Given the description of an element on the screen output the (x, y) to click on. 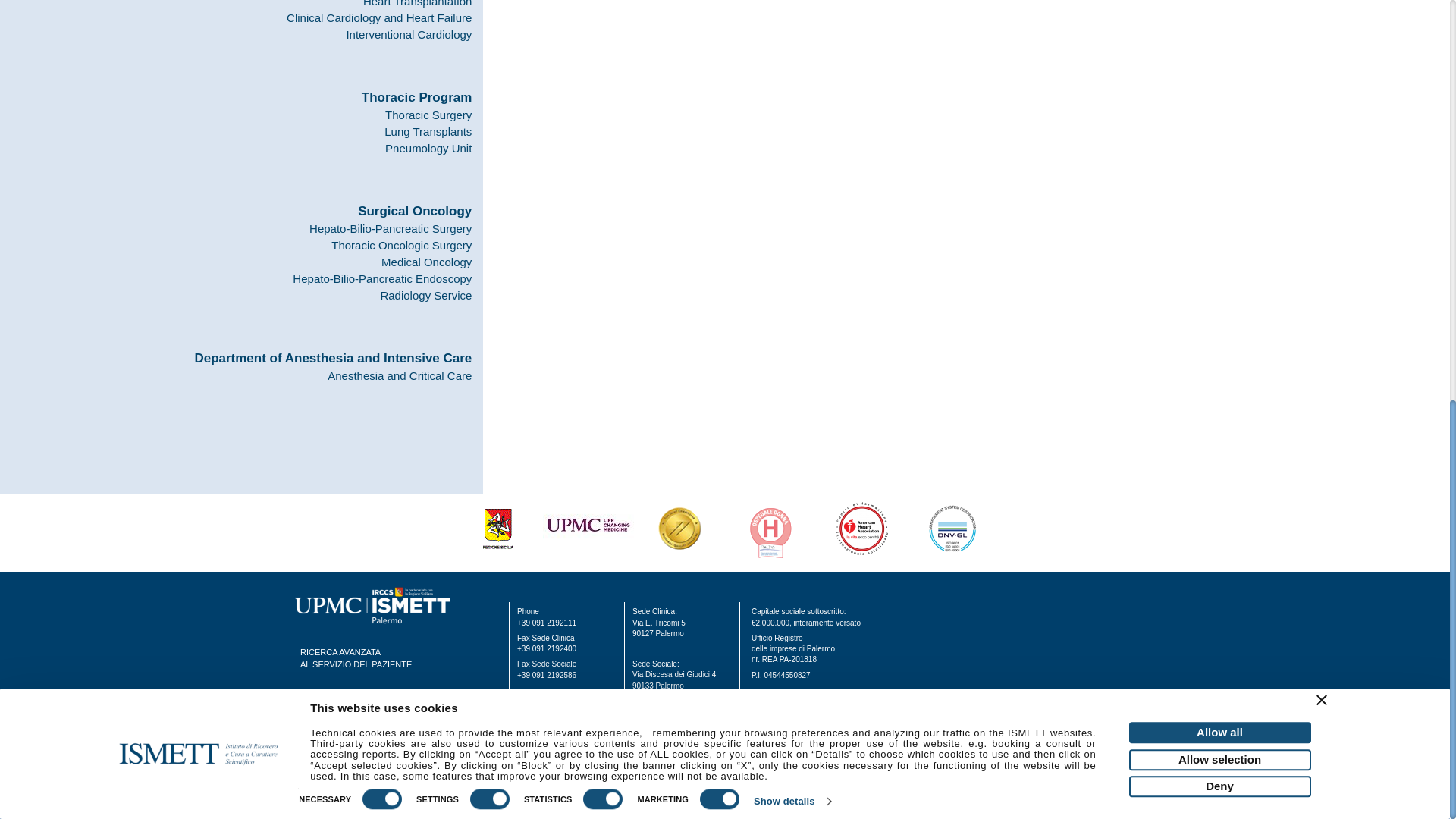
Show details (791, 17)
